Given the description of an element on the screen output the (x, y) to click on. 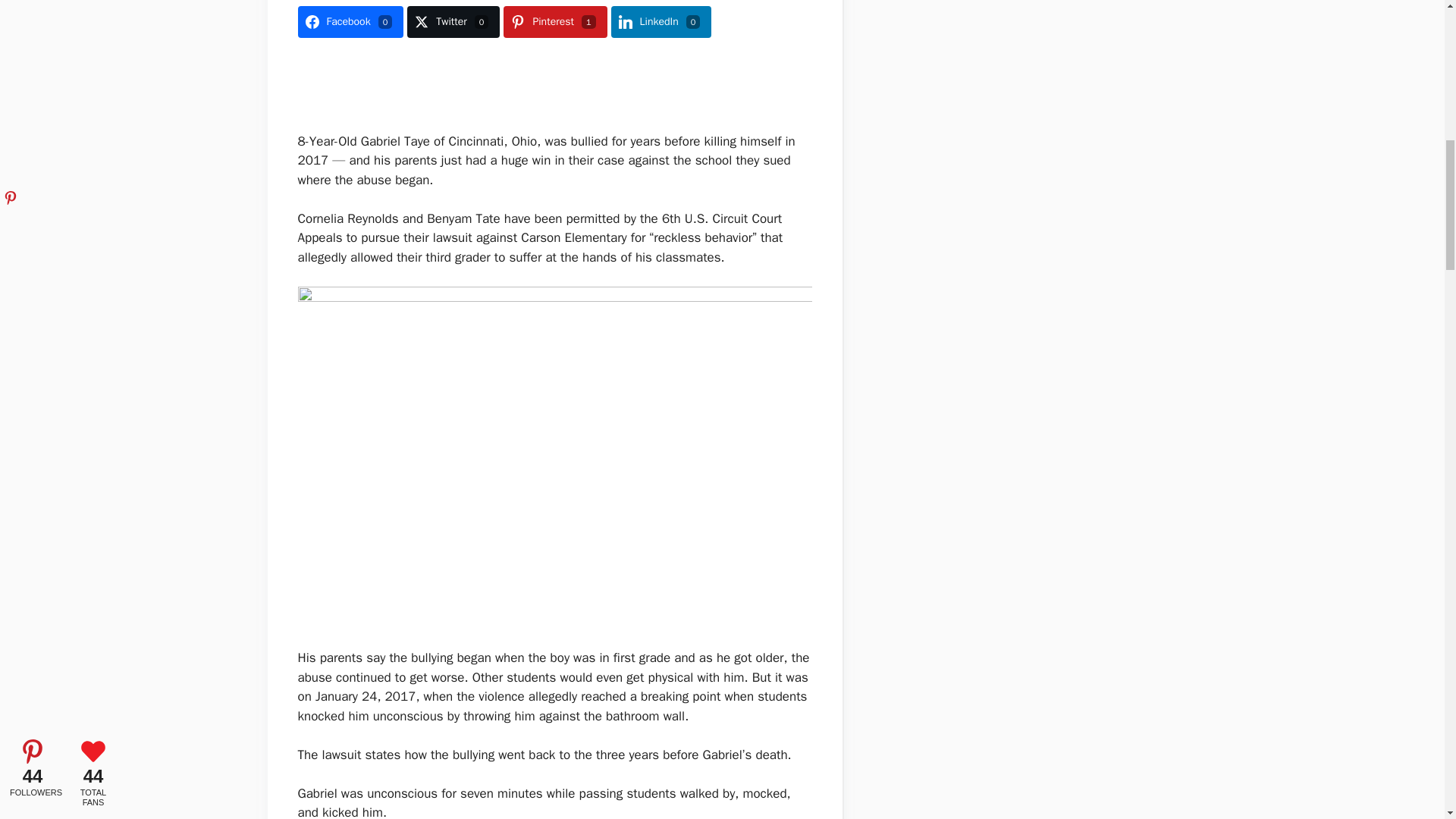
Pinterest1 (555, 21)
LinkedIn0 (661, 21)
Share on LinkedIn (661, 21)
Facebook0 (350, 21)
Twitter0 (453, 21)
Share on Pinterest (555, 21)
Share on Facebook (350, 21)
Share on Twitter (453, 21)
